Given the description of an element on the screen output the (x, y) to click on. 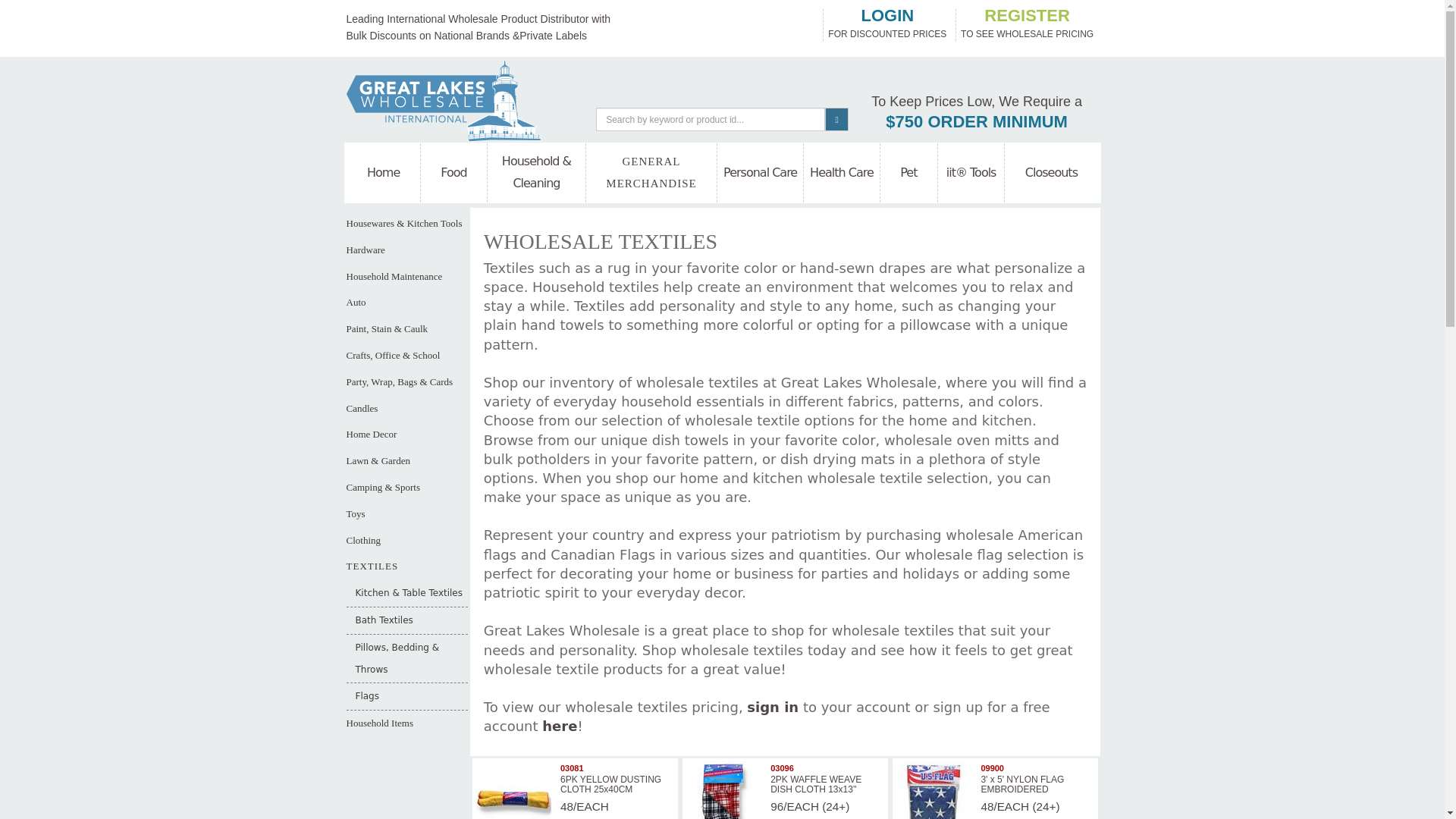
GENERAL MERCHANDISE (651, 172)
Home (383, 172)
Click here to go to the Great Lakes Wholesale homepage. (443, 99)
Wholesale 2PK WAFFLE WEAVE DISH CLOTH 13x13'' (723, 790)
Wholesale 6PK YELLOW DUSTING CLOTH 25x40CM (513, 790)
Wholesale 3' x 5' NYLON FLAG EMBROIDERED (933, 790)
Food (453, 172)
REGISTER (1026, 15)
Go (836, 119)
LOGIN (887, 15)
